Given the description of an element on the screen output the (x, y) to click on. 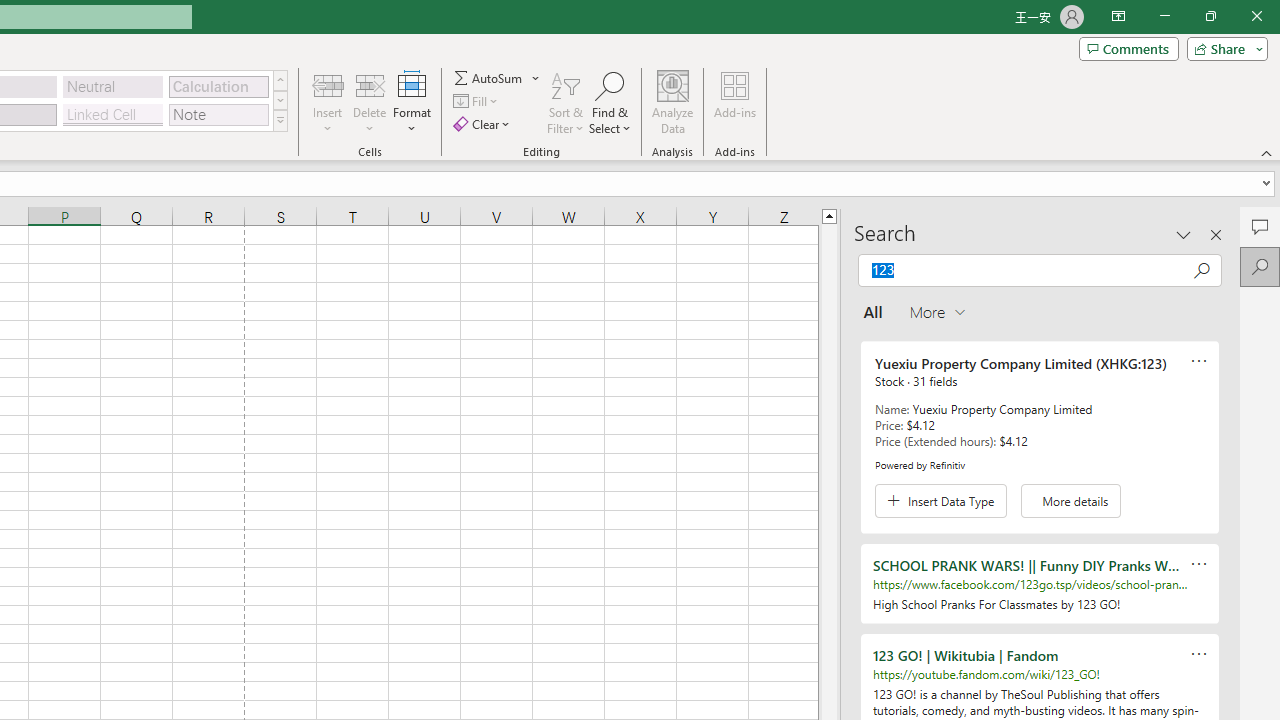
Find & Select (610, 102)
Sort & Filter (566, 102)
Delete (369, 102)
AutoSum (497, 78)
Fill (477, 101)
